Given the description of an element on the screen output the (x, y) to click on. 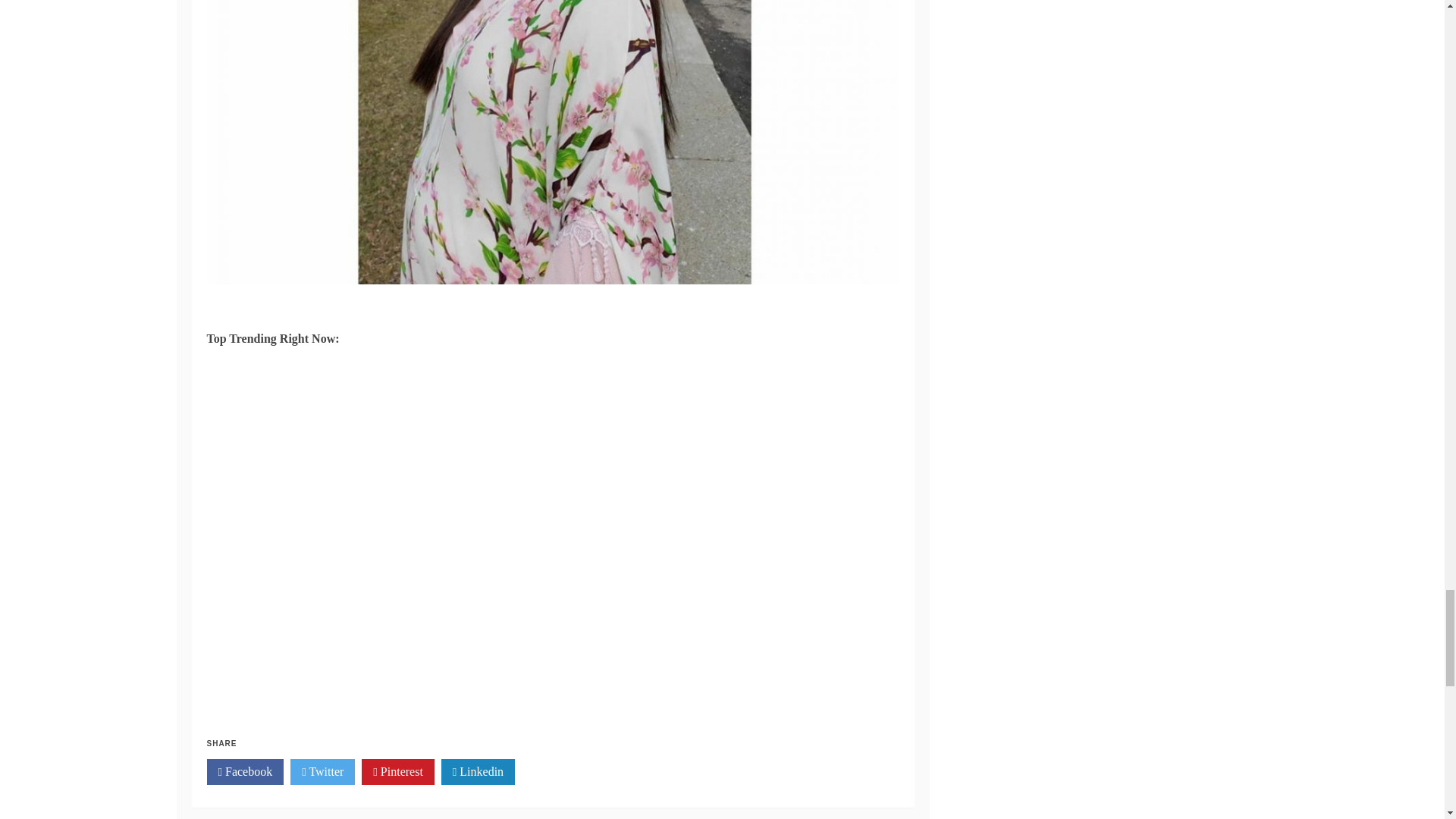
Twitter (322, 771)
Facebook (244, 771)
Linkedin (478, 771)
Pinterest (397, 771)
